Given the description of an element on the screen output the (x, y) to click on. 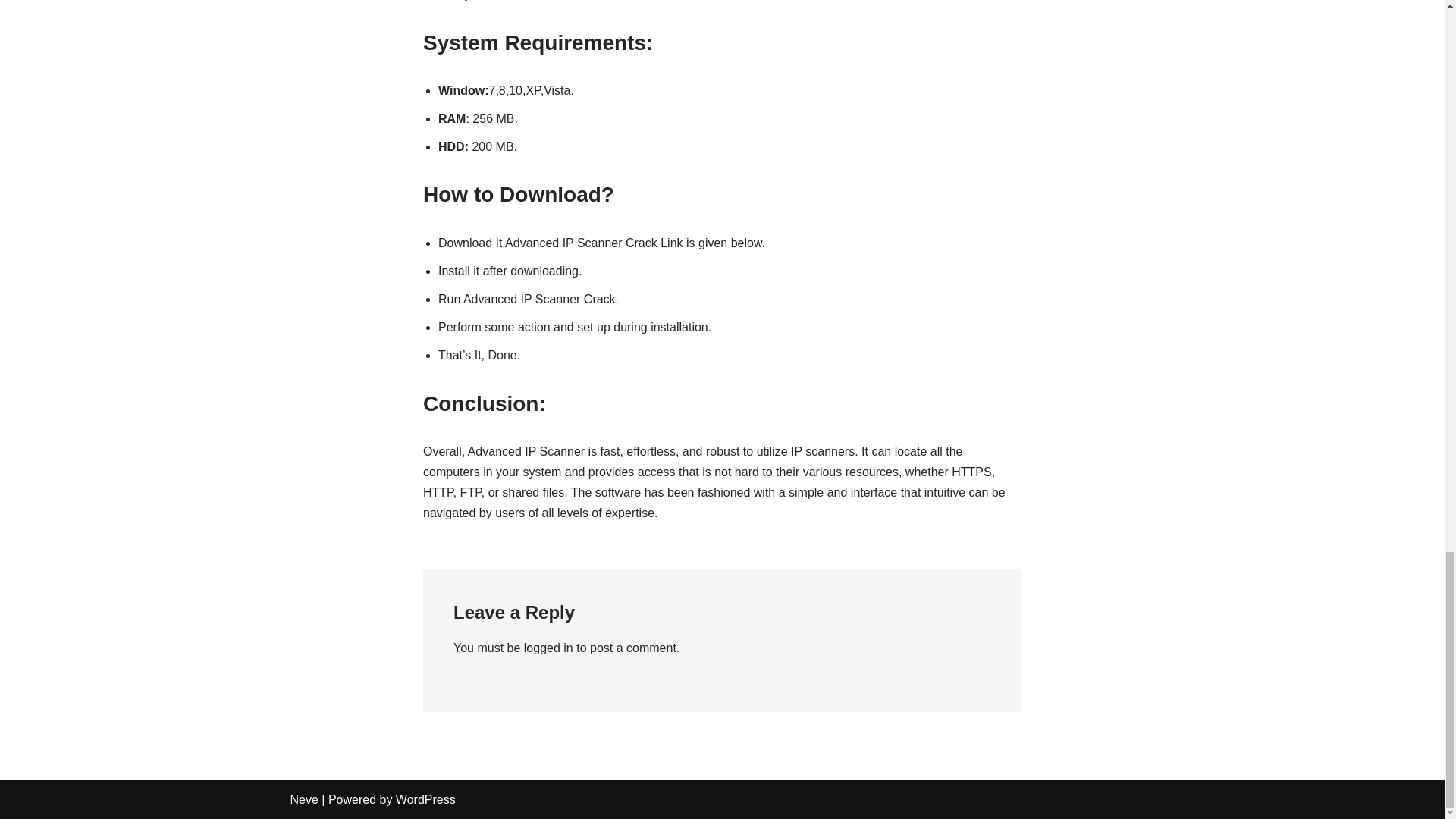
logged in (548, 647)
WordPress (425, 799)
Neve (303, 799)
